Given the description of an element on the screen output the (x, y) to click on. 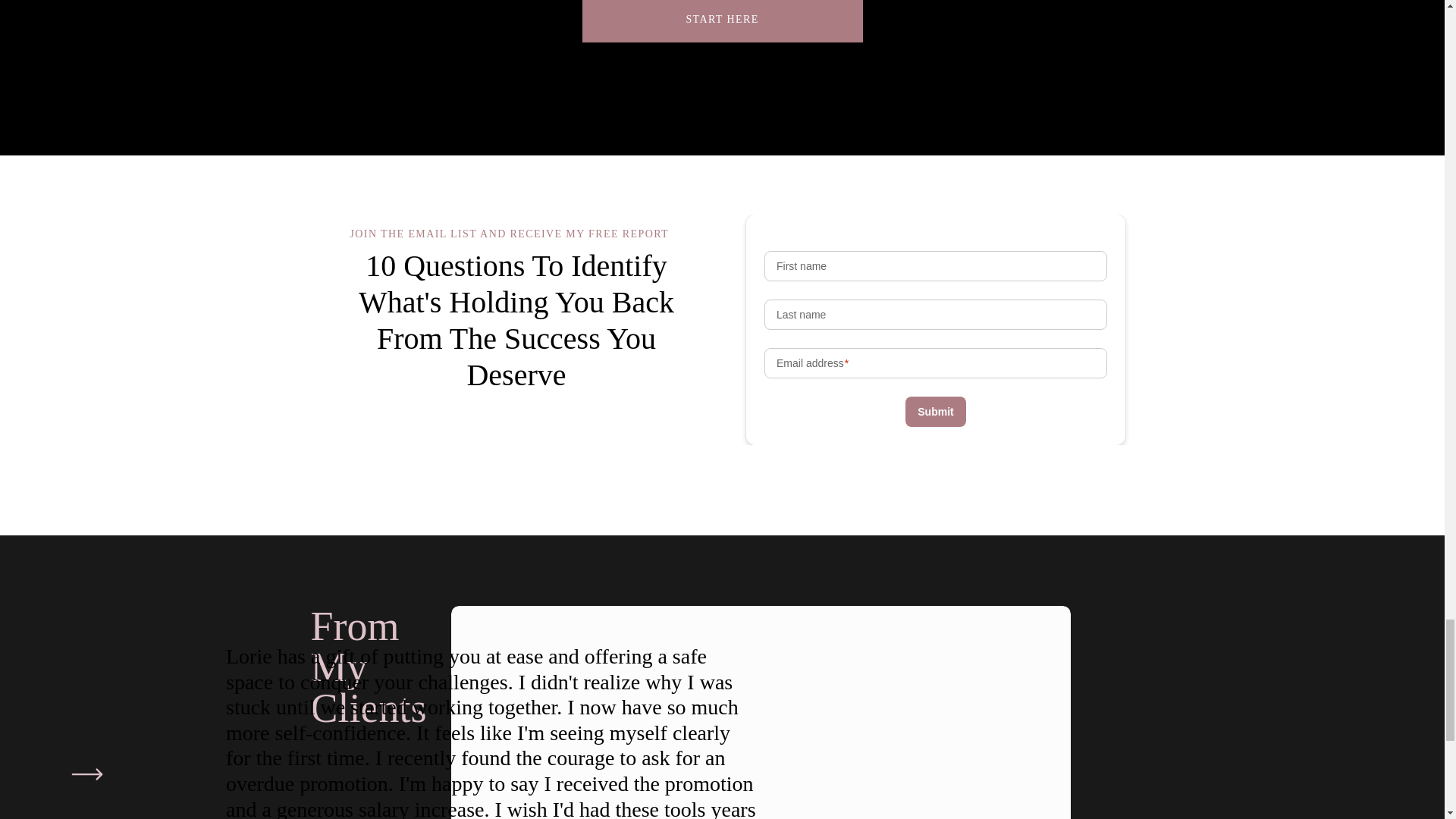
START HERE (722, 16)
